Given the description of an element on the screen output the (x, y) to click on. 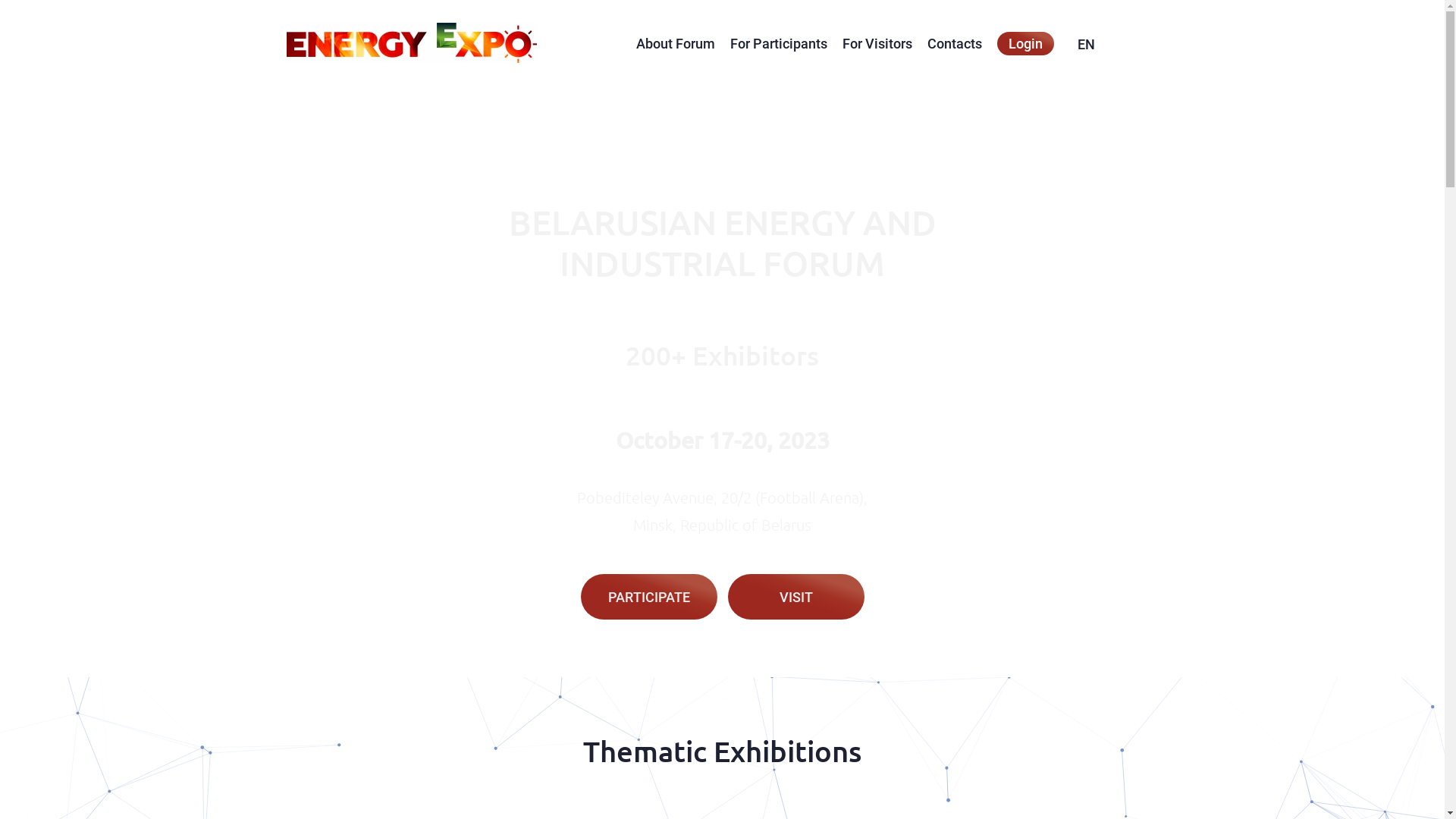
For Participants Element type: text (777, 43)
For Visitors Element type: text (876, 43)
Login Element type: text (1024, 43)
About Forum Element type: text (674, 43)
VISIT Element type: text (796, 596)
PARTICIPATE Element type: text (648, 596)
Contacts Element type: text (953, 43)
